Given the description of an element on the screen output the (x, y) to click on. 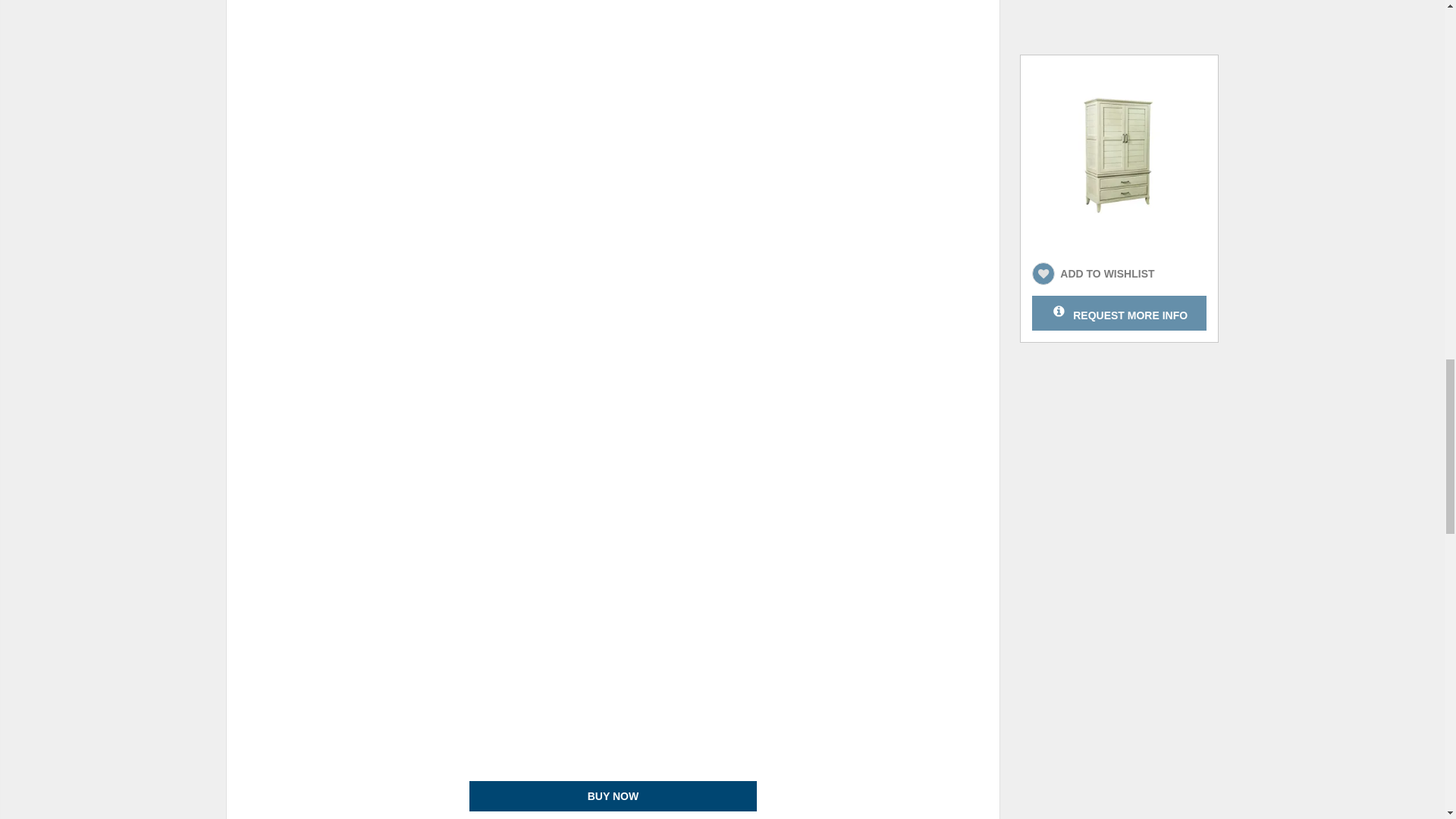
See Details of Tribeca Nightstand 5 (612, 796)
